Given the description of an element on the screen output the (x, y) to click on. 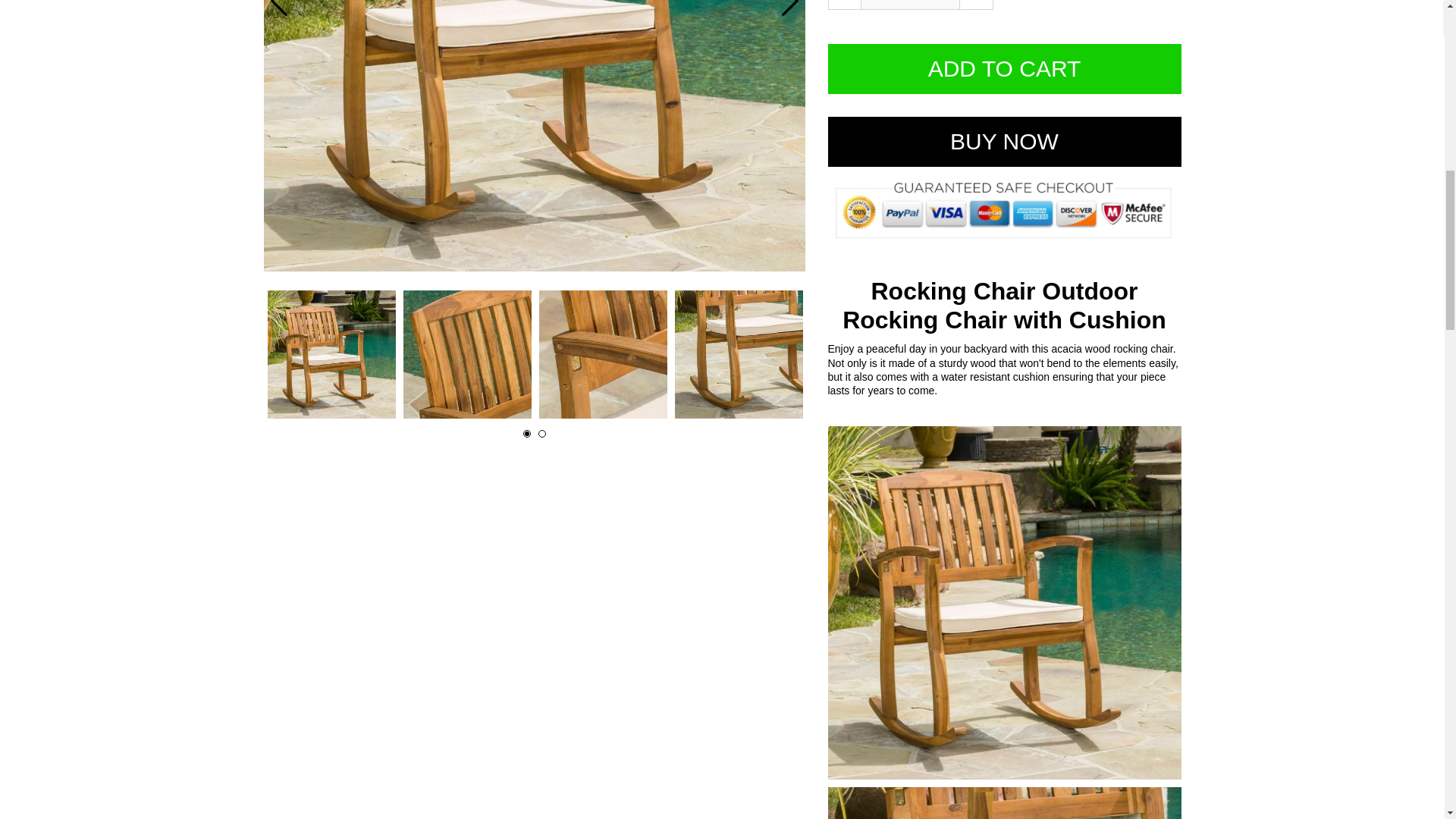
Rocking Chair Outdoor Rocking Chair with Cushion (330, 354)
Rocking Chair Outdoor Rocking Chair with Cushion (739, 354)
Rocking Chair Outdoor Rocking Chair with Cushion (602, 354)
Rocking Chair Outdoor Rocking Chair with Cushion (467, 354)
BUY NOW (1004, 142)
- (844, 4)
ADD TO CART (1004, 69)
1 (909, 4)
